Given the description of an element on the screen output the (x, y) to click on. 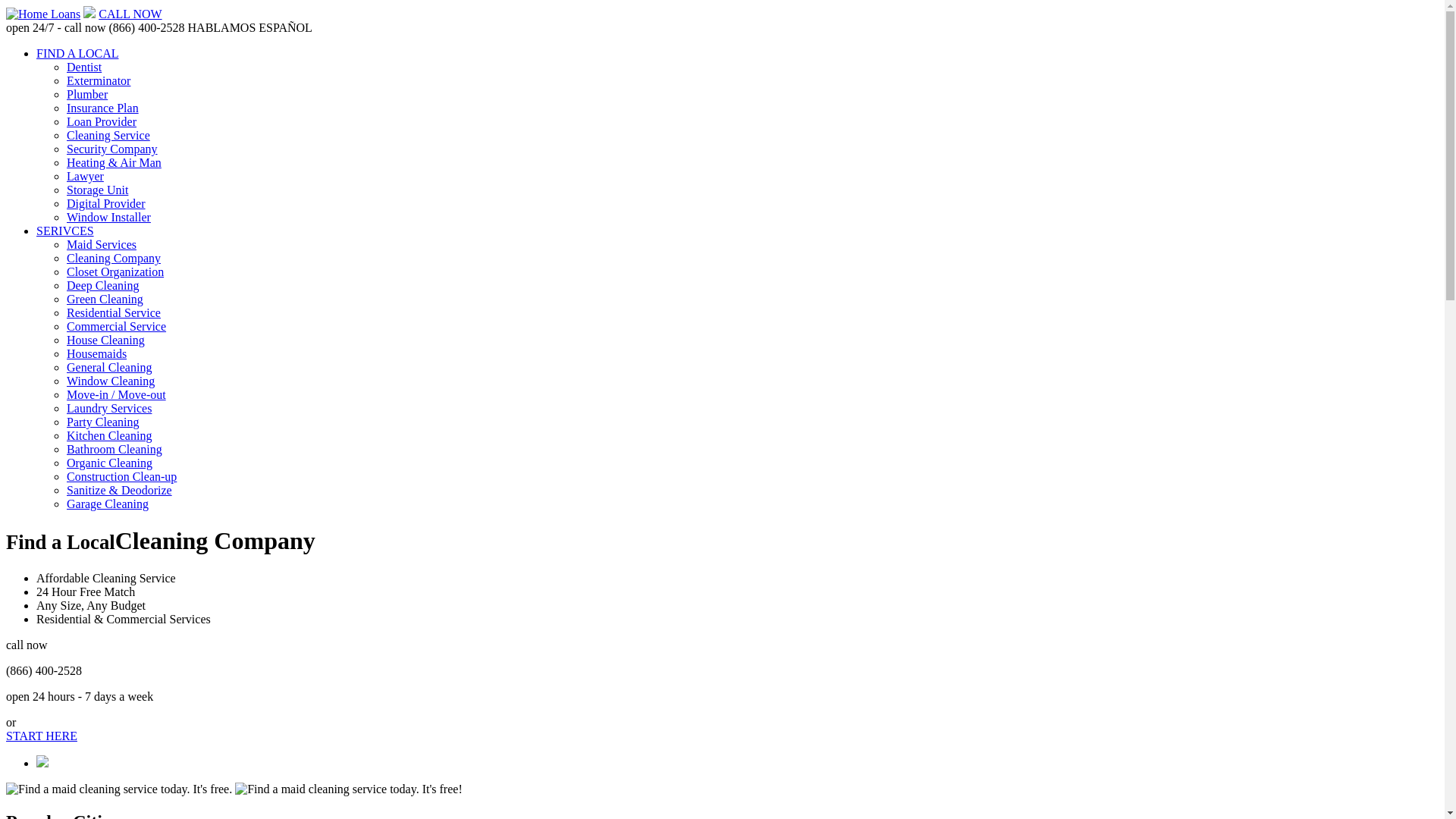
Storage Unit Element type: text (97, 189)
Cleaning Company Element type: text (113, 257)
Organic Cleaning Element type: text (109, 462)
Laundry Services Element type: text (108, 407)
CALL NOW Element type: text (129, 13)
Green Cleaning Element type: text (104, 298)
Window Cleaning Element type: text (110, 380)
Deep Cleaning Element type: text (102, 285)
Dentist Element type: text (83, 66)
Sanitize & Deodorize Element type: text (119, 489)
Move-in / Move-out Element type: text (116, 394)
General Cleaning Element type: text (108, 366)
Garage Cleaning Element type: text (107, 503)
Housemaids Element type: text (96, 353)
Window Installer Element type: text (108, 216)
Security Company Element type: text (111, 148)
Residential Service Element type: text (113, 312)
Closet Organization Element type: text (114, 271)
Construction Clean-up Element type: text (121, 476)
Plumber Element type: text (86, 93)
Party Cleaning Element type: text (102, 421)
FIND A LOCAL Element type: text (77, 53)
START HERE Element type: text (41, 735)
Digital Provider Element type: text (105, 203)
Bathroom Cleaning Element type: text (114, 448)
Heating & Air Man Element type: text (113, 162)
Commercial Service Element type: text (116, 326)
Exterminator Element type: text (98, 80)
Kitchen Cleaning Element type: text (108, 435)
Insurance Plan Element type: text (102, 107)
Cleaning Service Element type: text (108, 134)
SERIVCES Element type: text (65, 230)
Loan Provider Element type: text (101, 121)
House Cleaning Element type: text (105, 339)
Maid Services Element type: text (101, 244)
Lawyer Element type: text (84, 175)
